Given the description of an element on the screen output the (x, y) to click on. 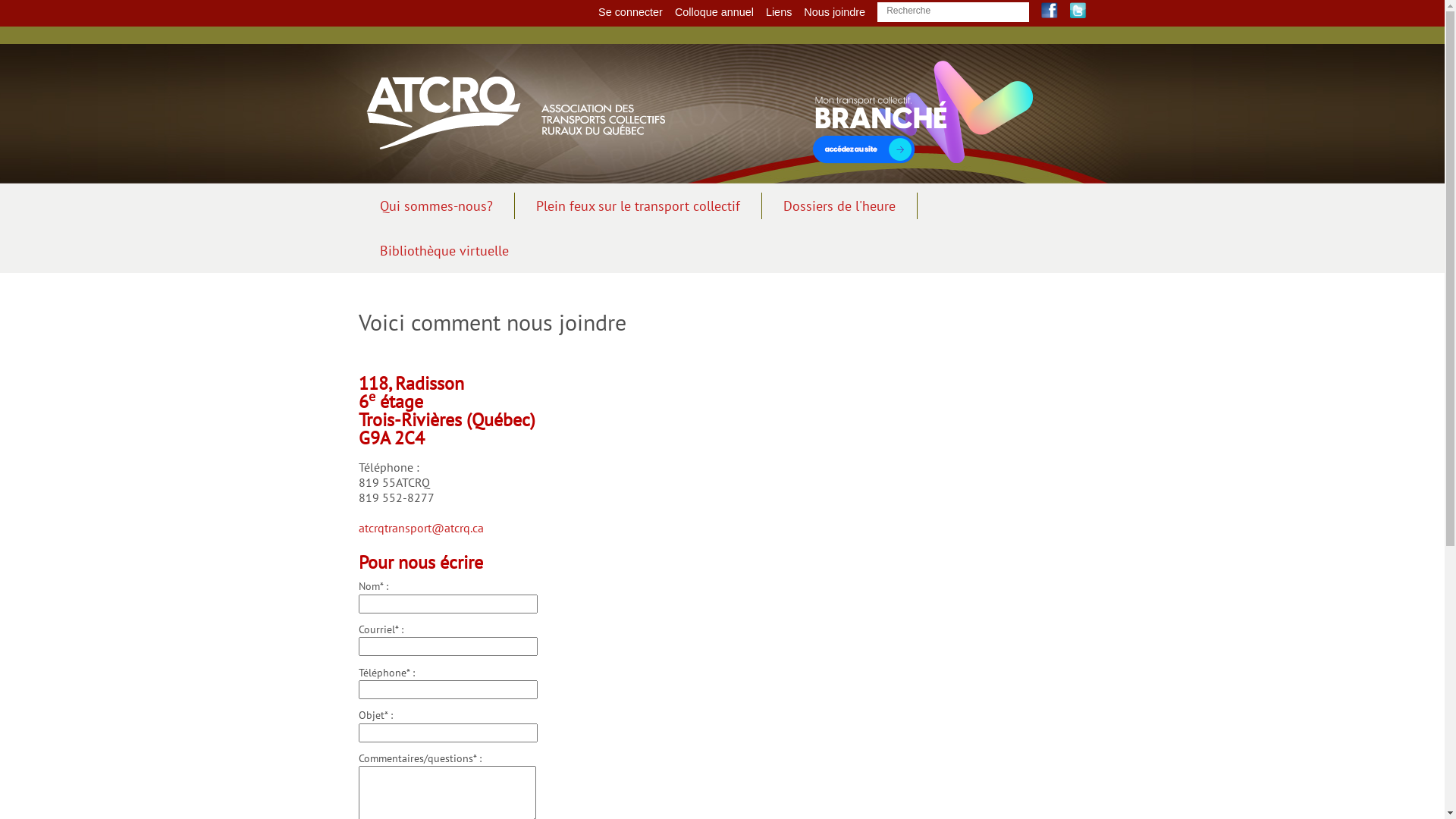
Se connecter Element type: text (630, 12)
Liens Element type: text (778, 12)
Dossiers de l'heure Element type: text (838, 205)
Qui sommes-nous? Element type: text (435, 205)
Colloque annuel Element type: text (713, 12)
atcrqtransport@atcrq.ca Element type: text (420, 527)
Plein feux sur le transport collectif Element type: text (637, 205)
Nous joindre Element type: text (834, 12)
